Given the description of an element on the screen output the (x, y) to click on. 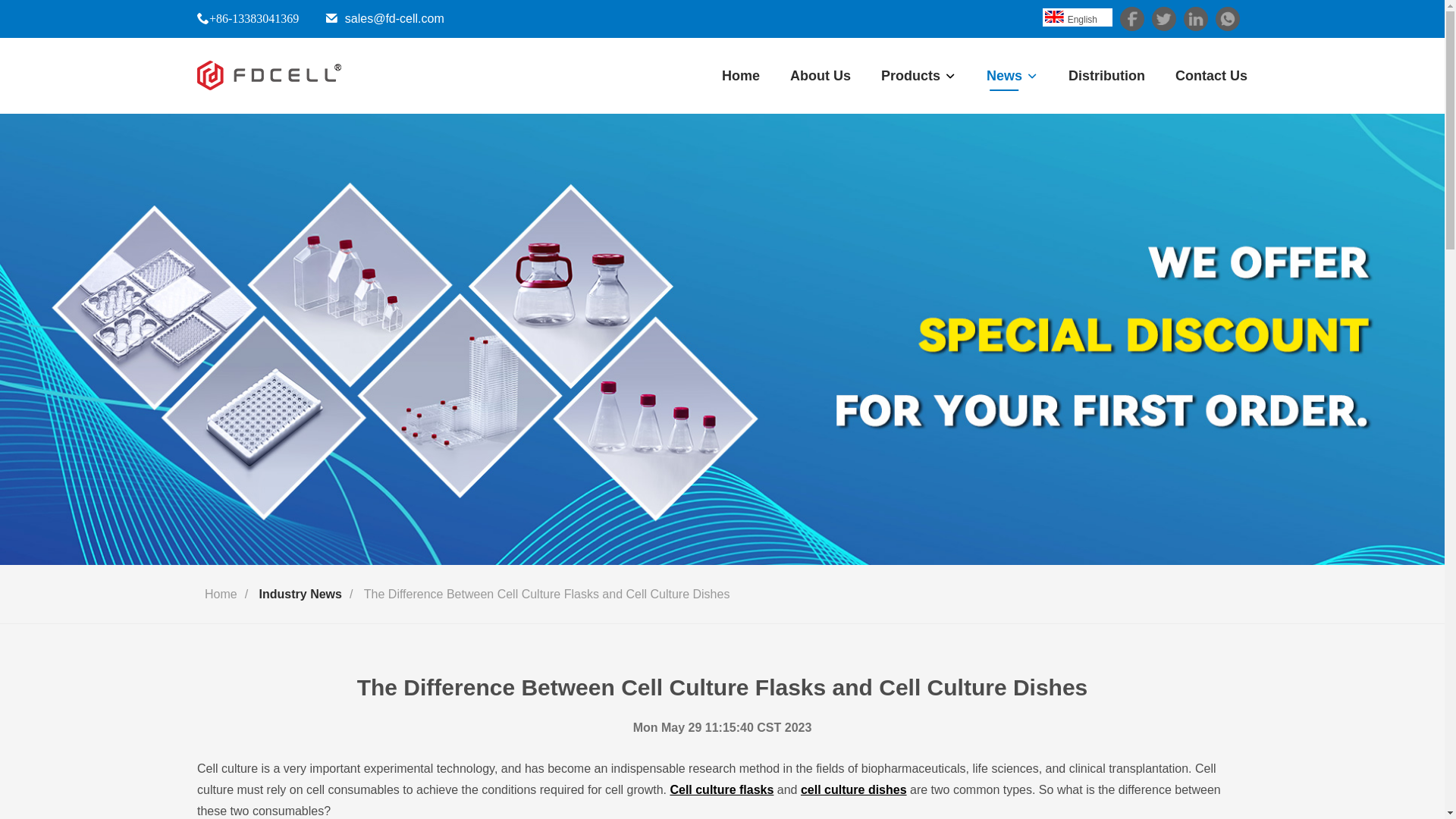
Go to Dshow Machinery Co.,Ltd (268, 75)
LUOYANG FUDAU BIOTECH CO.LTD (268, 75)
English (1056, 16)
